Given the description of an element on the screen output the (x, y) to click on. 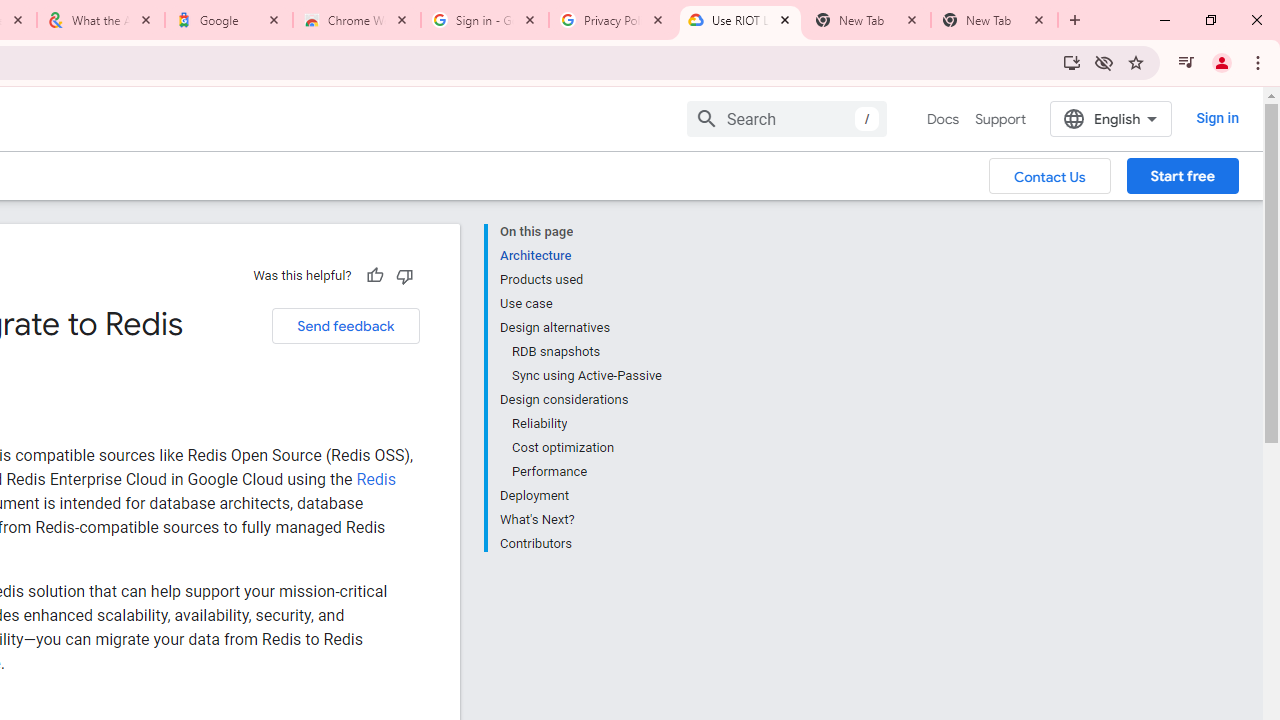
What's Next? (580, 520)
Cost optimization (585, 448)
Not helpful (404, 275)
Helpful (374, 275)
Design considerations (580, 399)
Architecture (580, 255)
Chrome Web Store - Color themes by Chrome (357, 20)
